Given the description of an element on the screen output the (x, y) to click on. 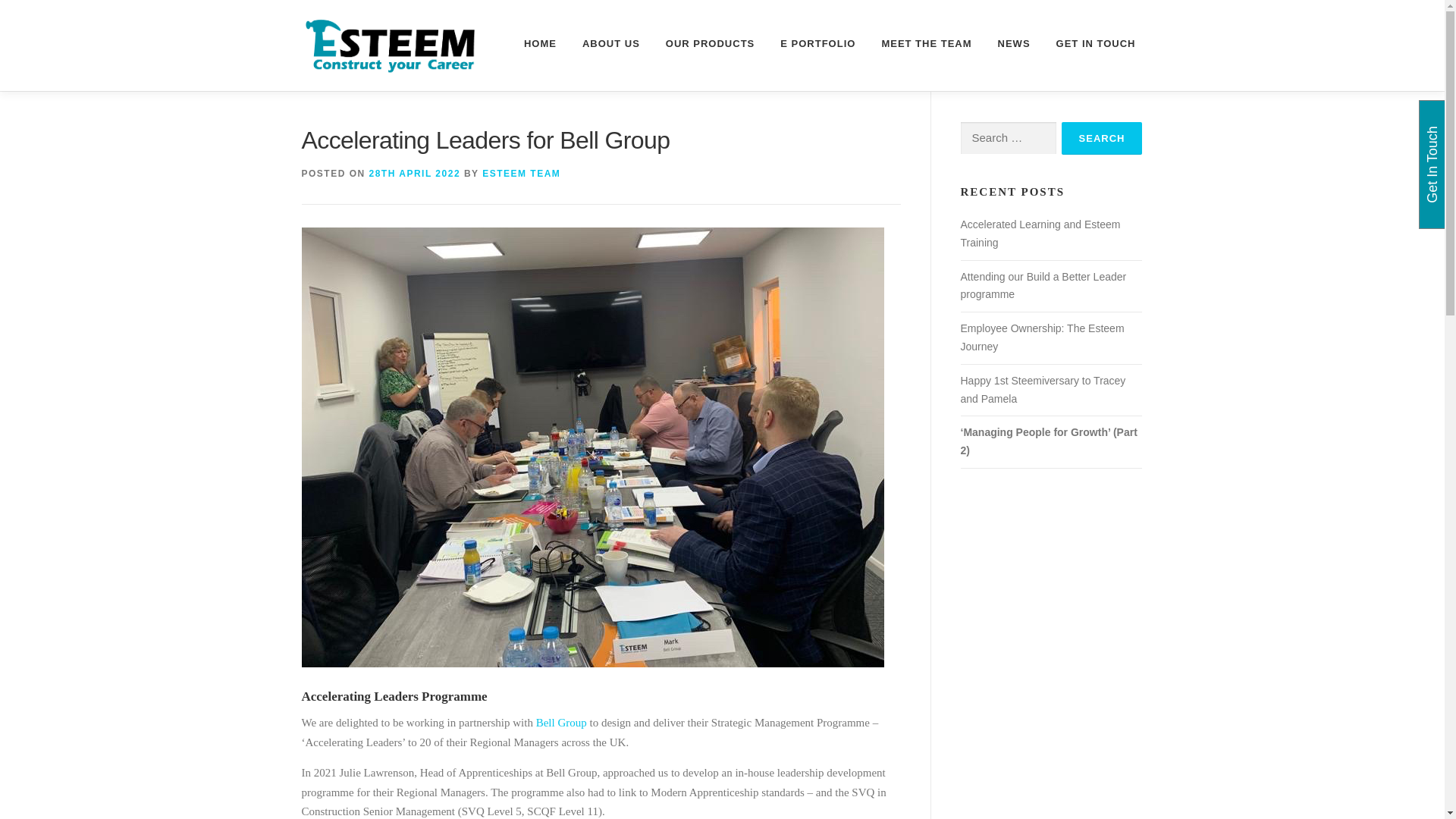
Search (1101, 138)
GET IN TOUCH (1089, 43)
28TH APRIL 2022 (415, 173)
Bell Group (560, 722)
HOME (540, 43)
ESTEEM TEAM (520, 173)
OUR PRODUCTS (709, 43)
Employee Ownership: The Esteem Journey (1041, 337)
ABOUT US (610, 43)
NEWS (1014, 43)
